Given the description of an element on the screen output the (x, y) to click on. 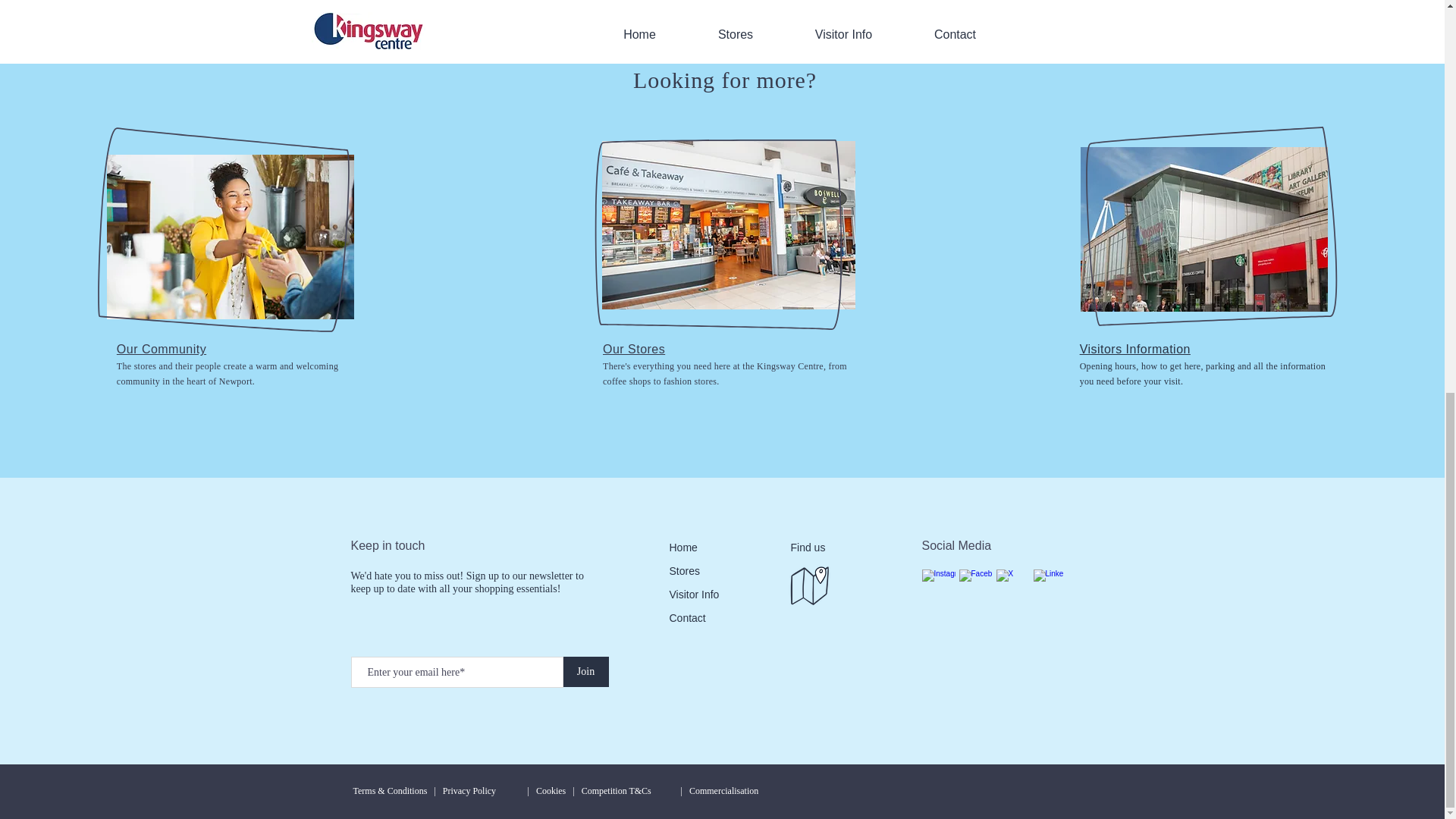
Contact (686, 617)
Our Community (161, 349)
Home (682, 547)
Find us (807, 547)
Cookies (550, 790)
Stores (683, 571)
Privacy Policy (469, 790)
Visitors Information (1135, 349)
Join (585, 671)
Our Stores (633, 349)
Visitor Info (693, 594)
